Given the description of an element on the screen output the (x, y) to click on. 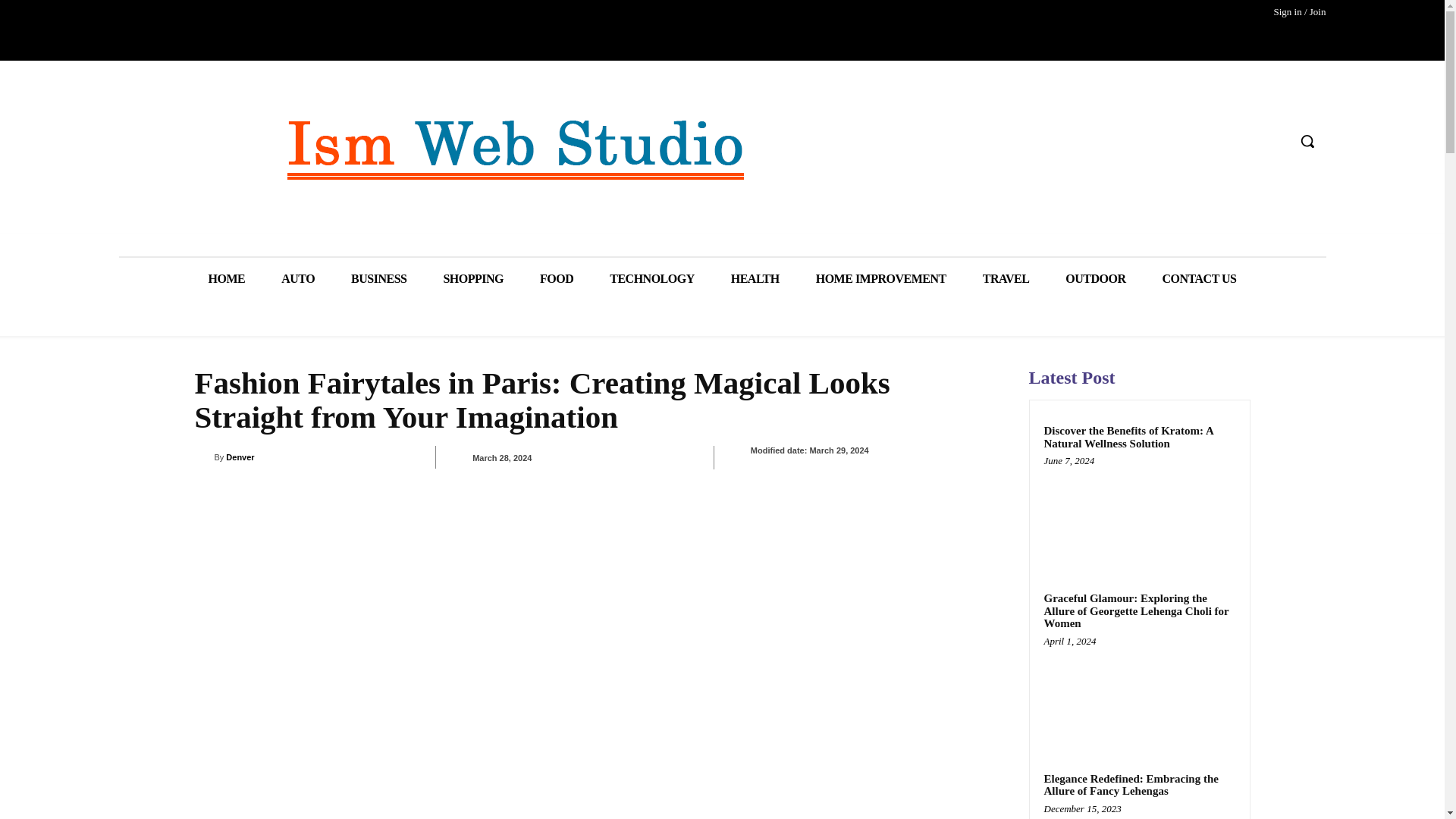
CONTACT US (1199, 278)
BUSINESS (379, 278)
HOME IMPROVEMENT (880, 278)
HOME (226, 278)
TECHNOLOGY (651, 278)
SHOPPING (473, 278)
FOOD (556, 278)
AUTO (298, 278)
TRAVEL (1005, 278)
OUTDOOR (1094, 278)
